Given the description of an element on the screen output the (x, y) to click on. 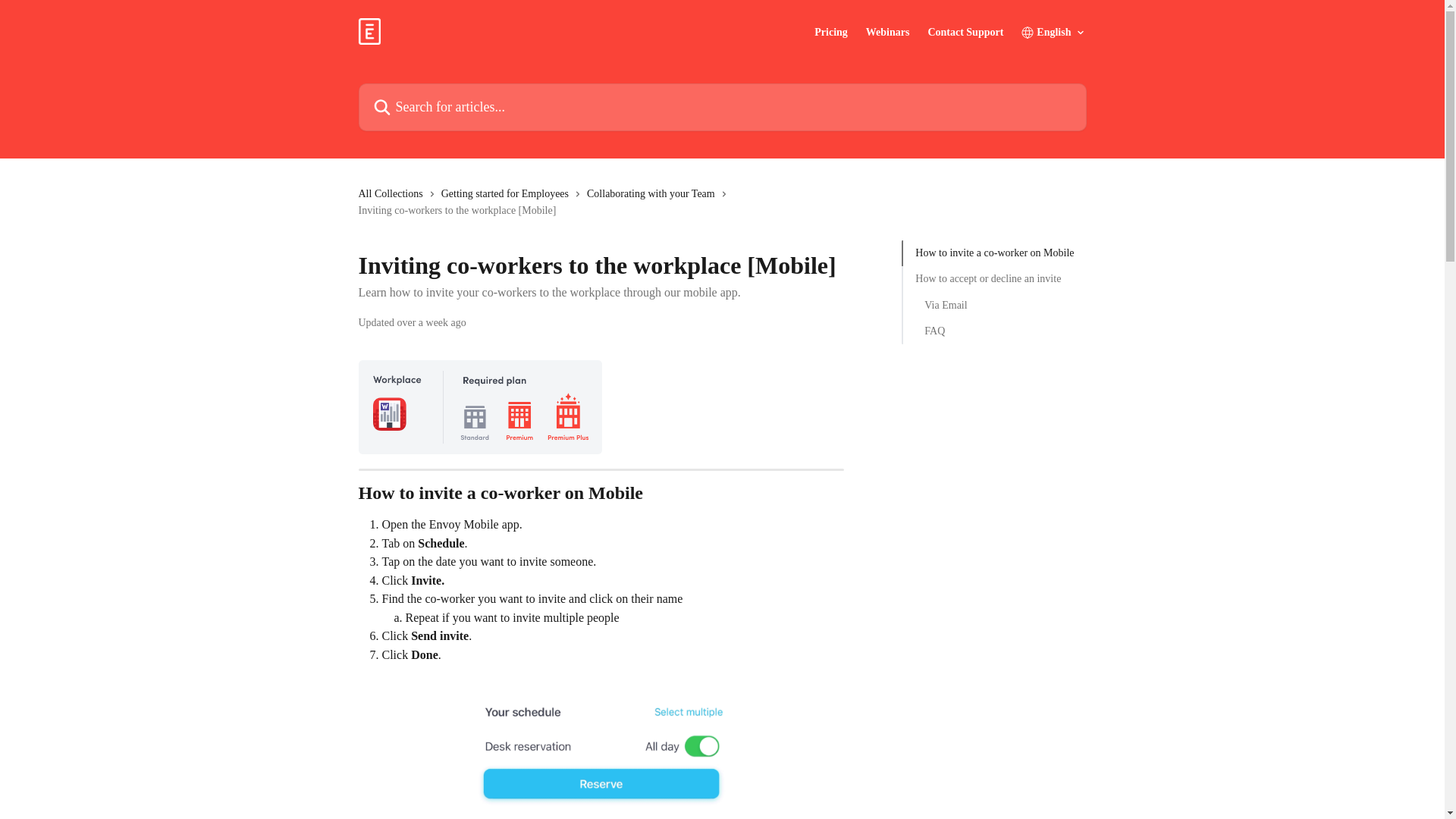
Pricing (830, 32)
All Collections (393, 193)
Webinars (888, 32)
FAQ (994, 330)
Contact Support (965, 32)
Via Email (994, 305)
How to invite a co-worker on Mobile (994, 252)
Getting started for Employees (508, 193)
How to accept or decline an invite (994, 279)
Collaborating with your Team (653, 193)
